Given the description of an element on the screen output the (x, y) to click on. 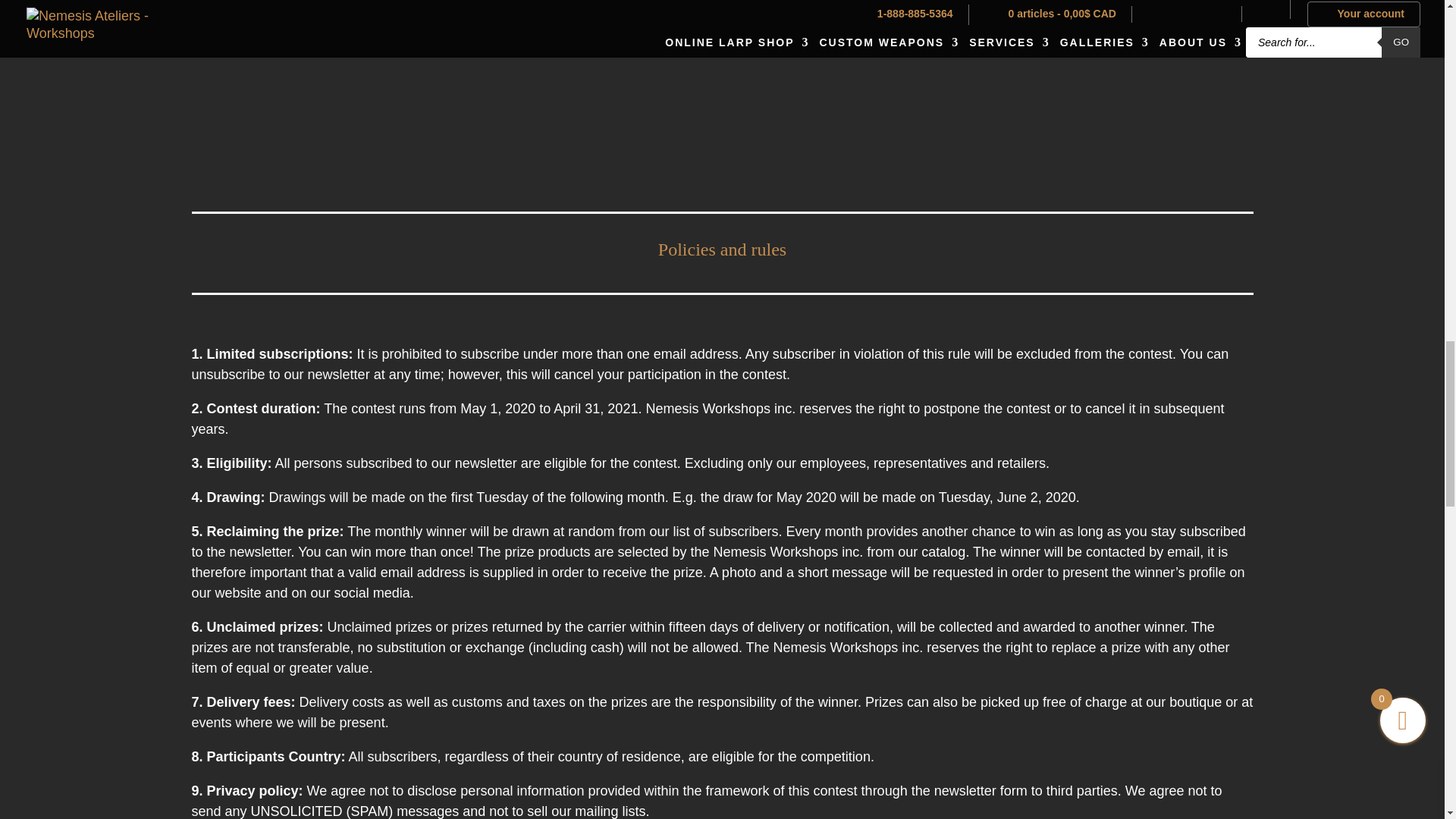
soldat-2 (447, 81)
soldat-1 (994, 81)
